Given the description of an element on the screen output the (x, y) to click on. 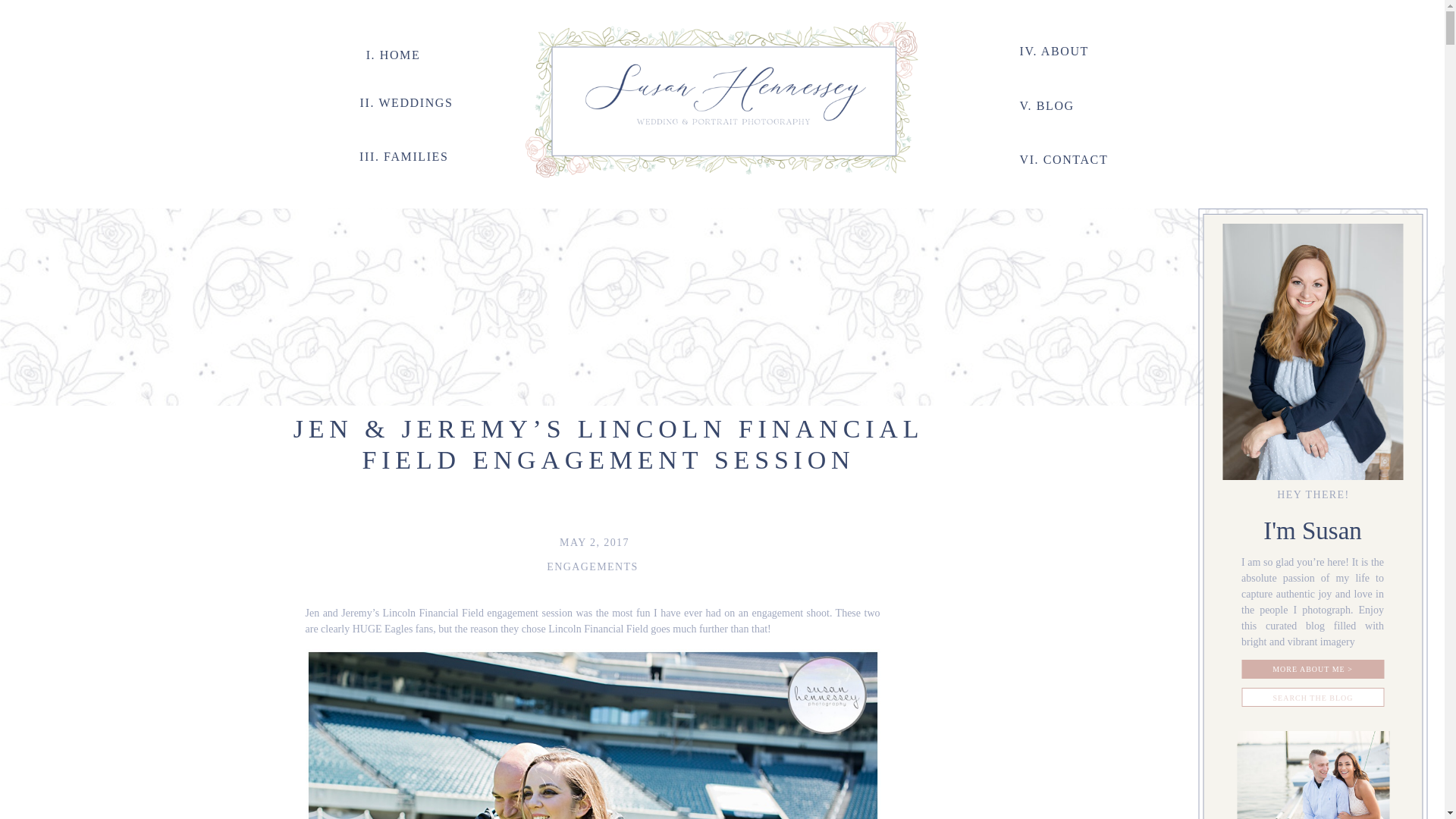
V. BLOG (1062, 104)
ENGAGEMENTS (592, 566)
IV. ABOUT (1062, 49)
I. HOME (393, 52)
VI. CONTACT (1074, 157)
III. FAMILIES (399, 155)
II. WEDDINGS (401, 101)
